Given the description of an element on the screen output the (x, y) to click on. 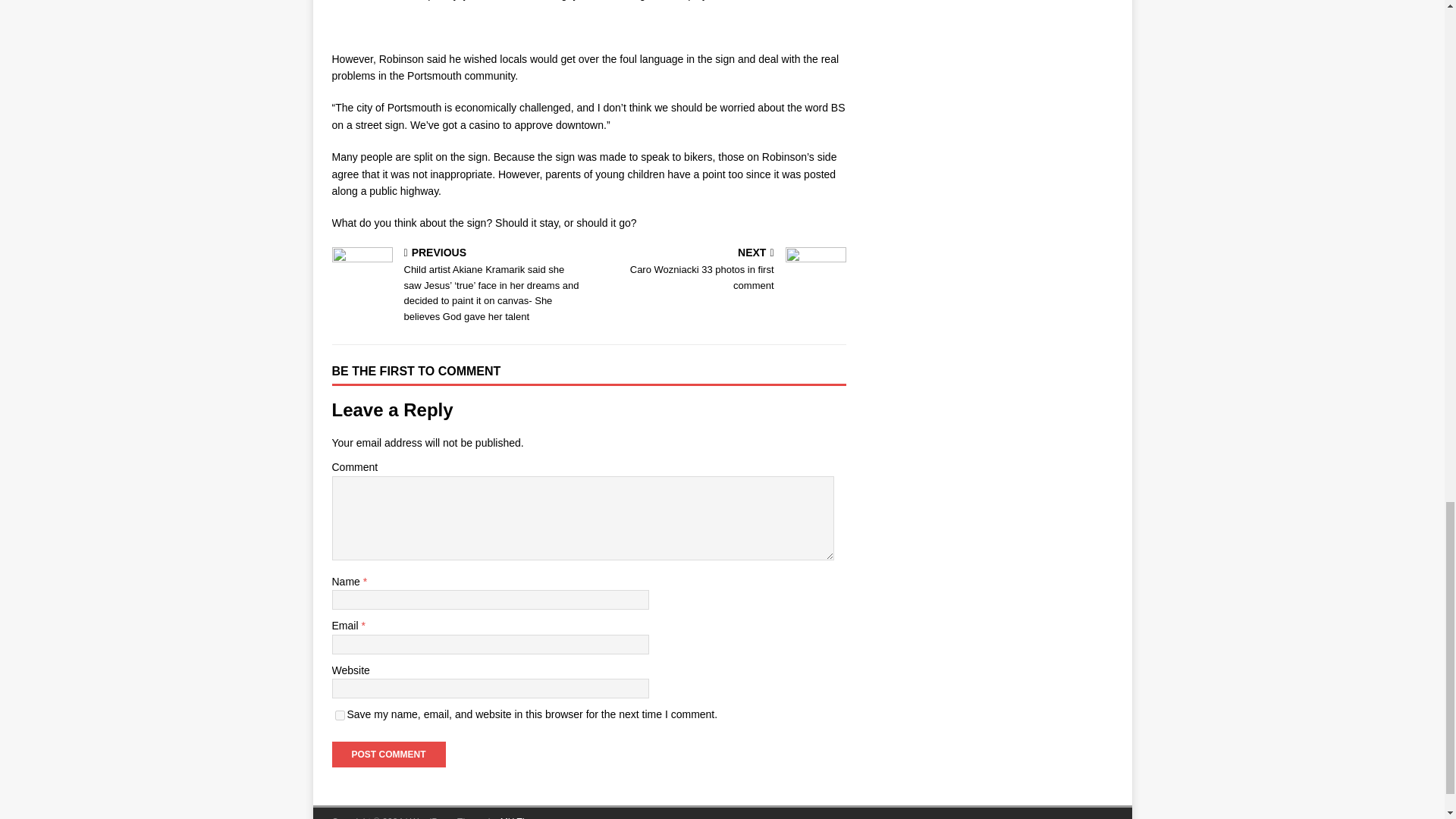
Post Comment (388, 754)
yes (720, 270)
Post Comment (339, 715)
